Given the description of an element on the screen output the (x, y) to click on. 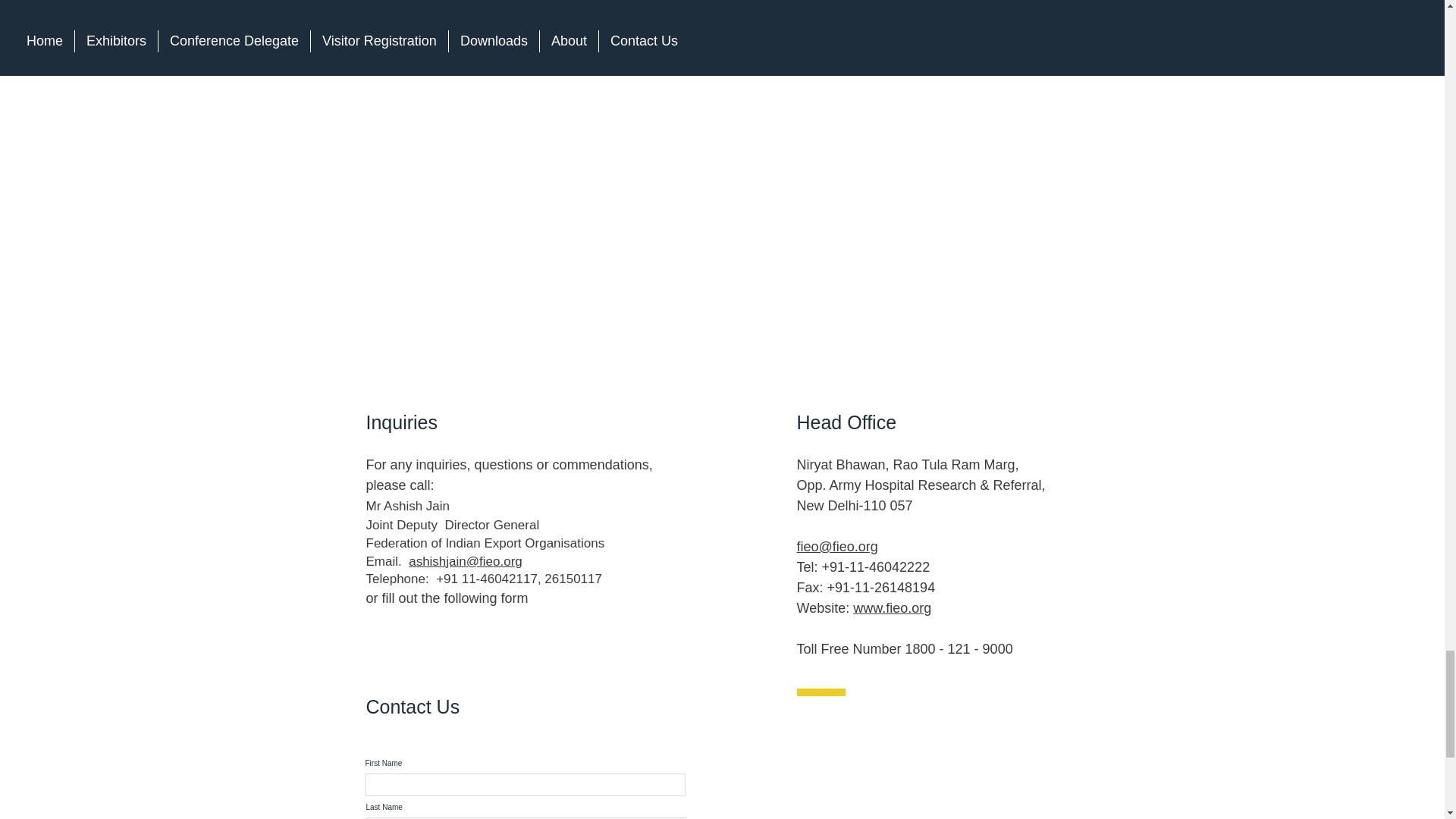
www.fieo.org (892, 607)
